Given the description of an element on the screen output the (x, y) to click on. 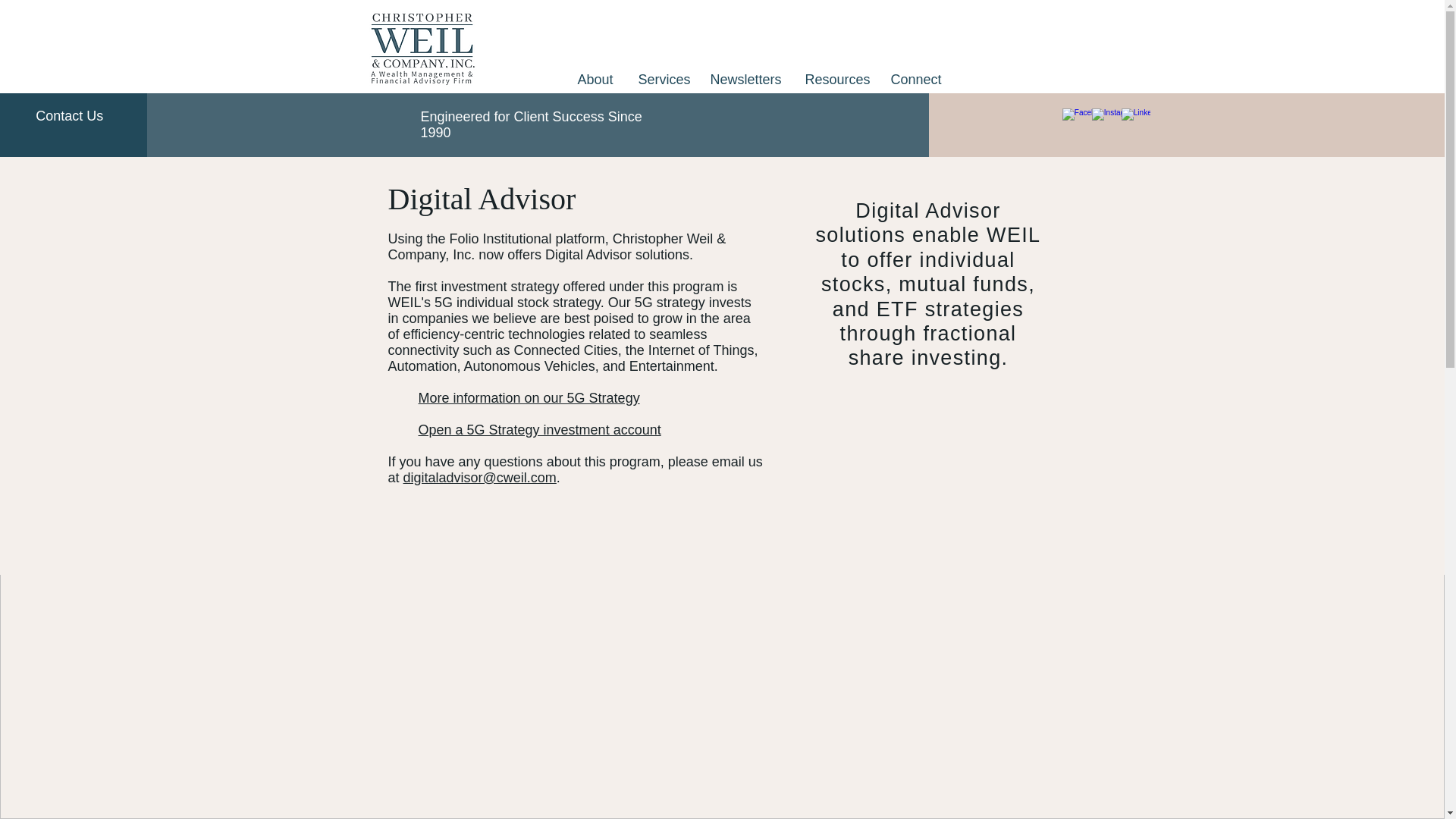
Services (662, 79)
Contact Us (68, 115)
Engineered for Client Success Since 1990 (531, 124)
More information on our 5G Strategy (529, 397)
Open a 5G Strategy investment account (540, 429)
